Given the description of an element on the screen output the (x, y) to click on. 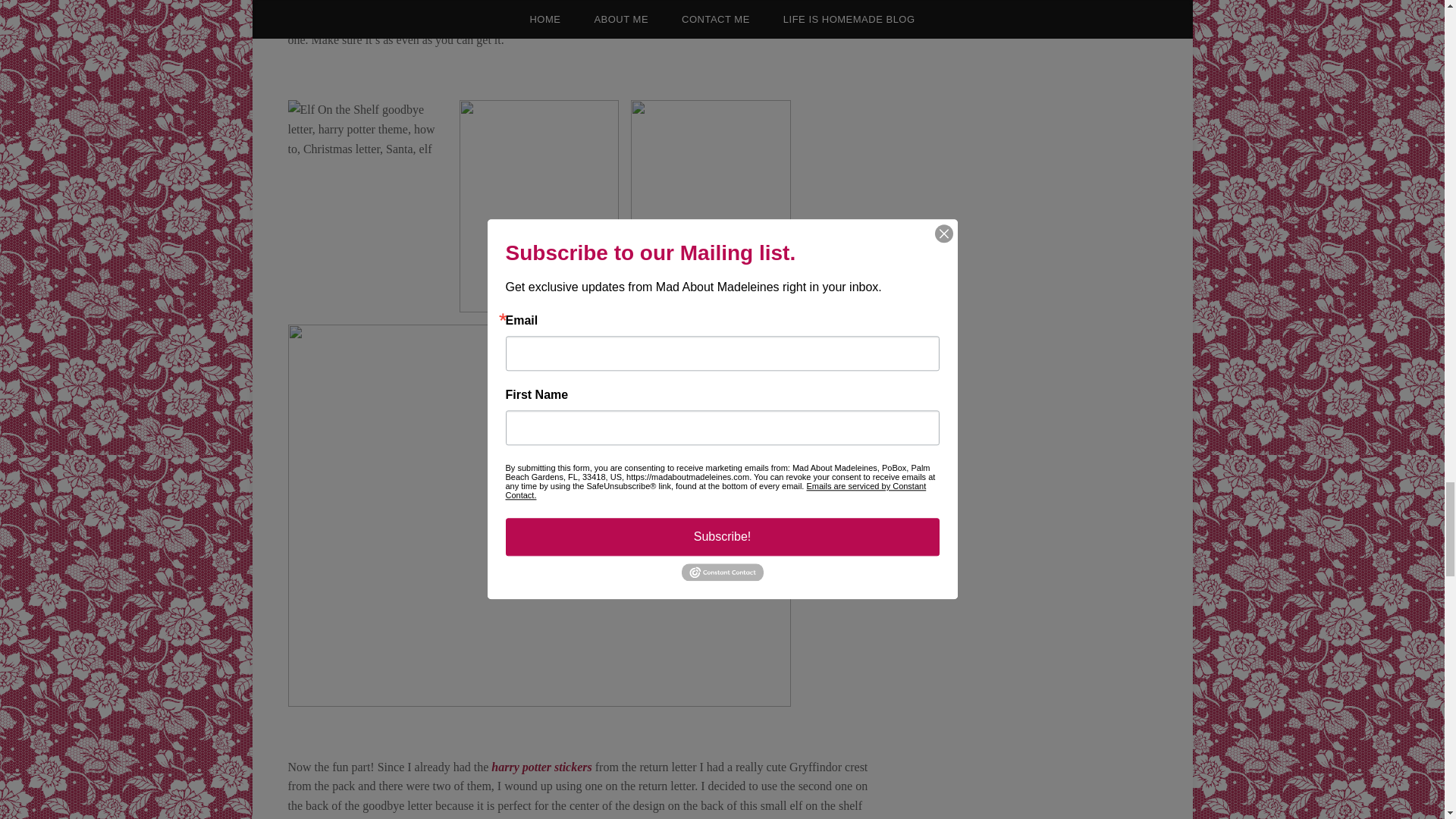
harry potter stickers (541, 766)
